Given the description of an element on the screen output the (x, y) to click on. 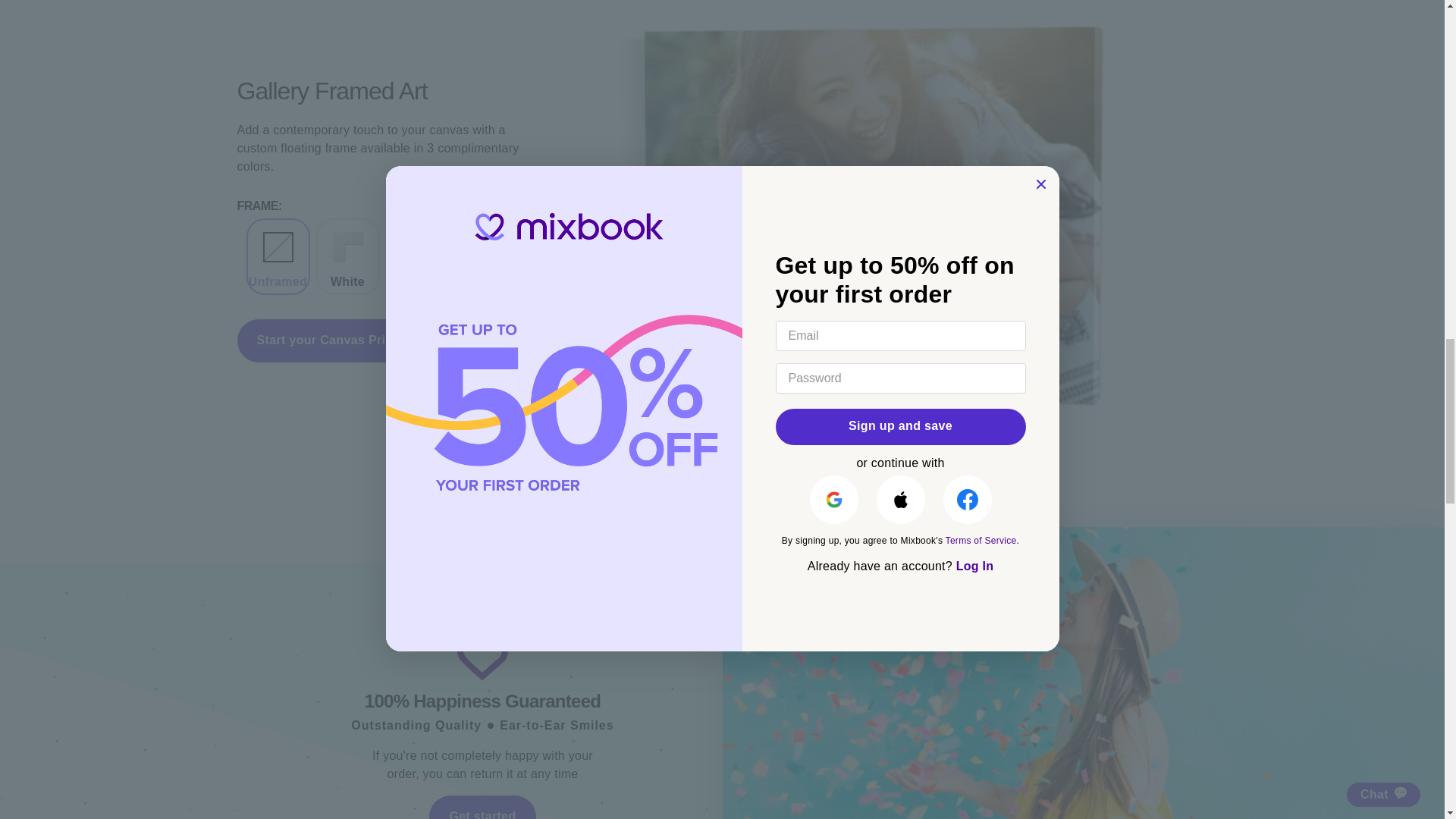
Start your Canvas Print (325, 340)
Get started (482, 807)
